Given the description of an element on the screen output the (x, y) to click on. 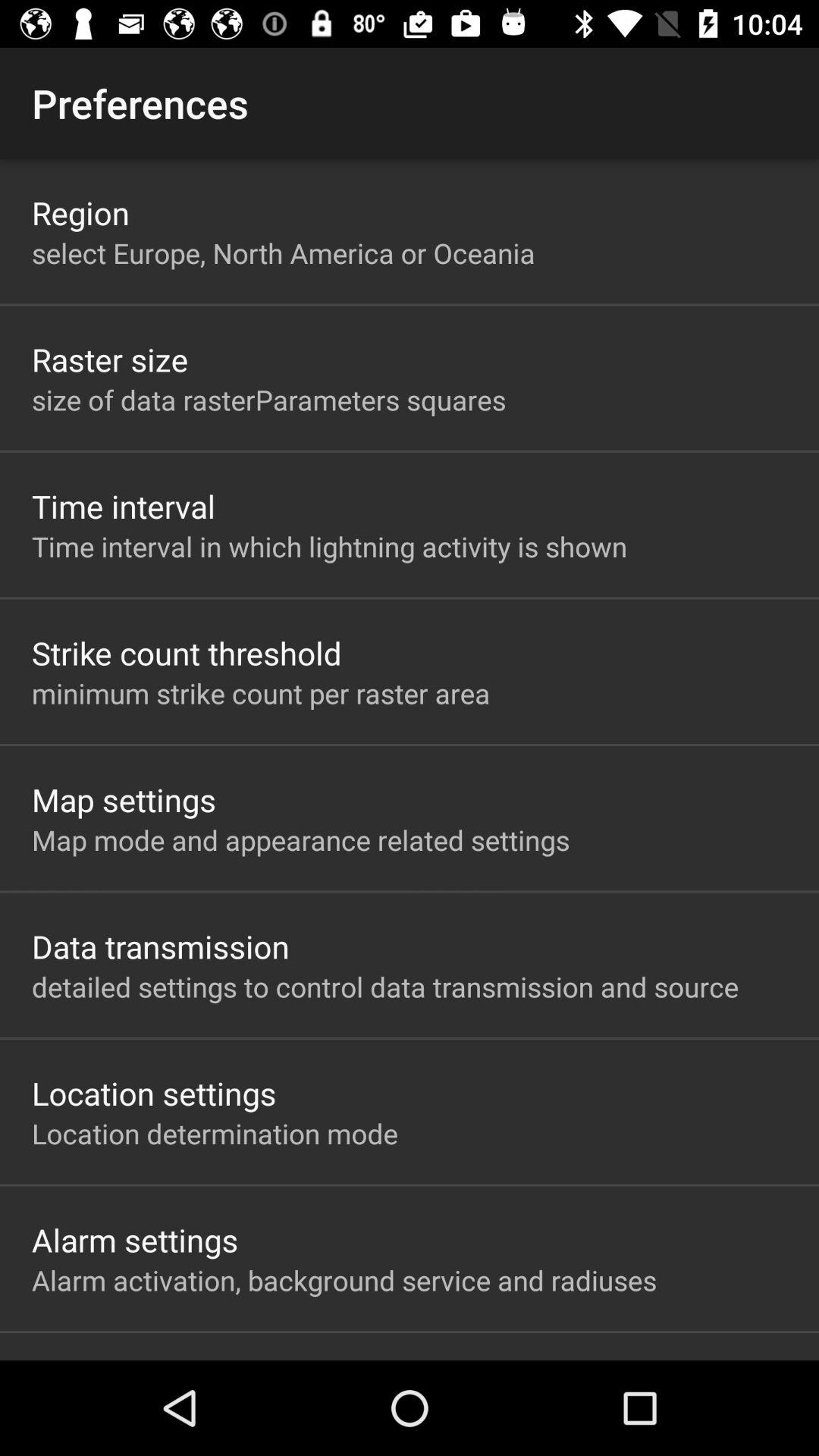
swipe until detailed settings to (384, 986)
